Given the description of an element on the screen output the (x, y) to click on. 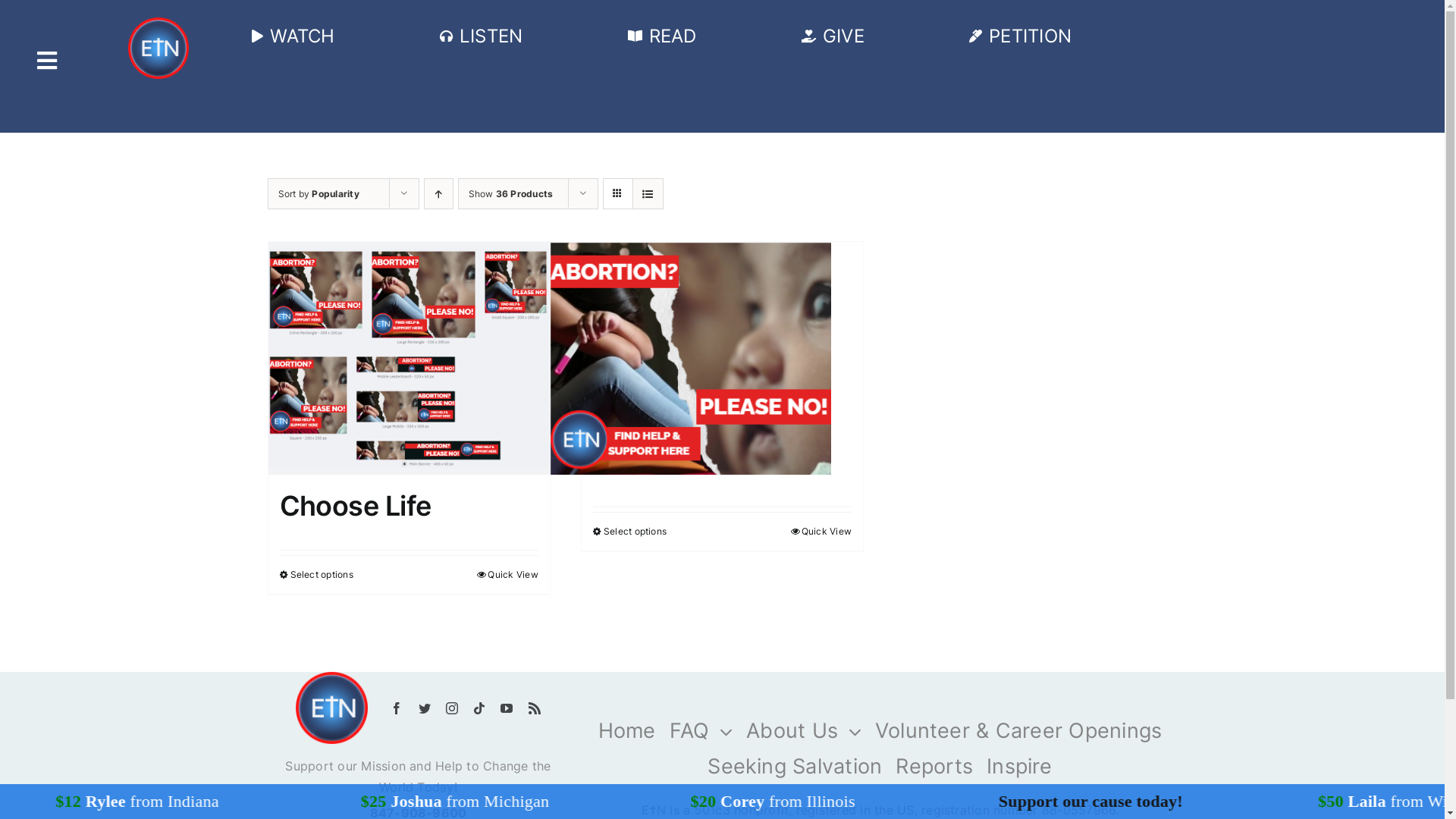
Select options Element type: text (629, 531)
Rss Element type: hover (533, 708)
Choose Life Element type: text (354, 505)
Inspire Element type: text (1019, 766)
Quick View Element type: text (506, 575)
Quick View Element type: text (820, 531)
Instagram Element type: hover (451, 708)
Seeking Salvation Element type: text (794, 766)
GIVE Element type: text (829, 36)
Show 36 Products Element type: text (510, 193)
Reports Element type: text (933, 766)
LISTEN Element type: text (478, 36)
Tiktok Element type: hover (479, 708)
WATCH Element type: text (289, 36)
Sort by Popularity Element type: text (317, 193)
Twitter Element type: hover (424, 708)
Facebook Element type: hover (396, 708)
Home Element type: text (626, 730)
Volunteer & Career Openings Element type: text (1018, 730)
Select options Element type: text (315, 575)
YouTube Element type: hover (506, 708)
The Gift of Life Element type: text (687, 462)
ETN-Logo Element type: hover (331, 707)
About Us Element type: text (803, 730)
PETITION Element type: text (1017, 36)
READ Element type: text (658, 36)
FAQ Element type: text (700, 730)
Support our cause today! Element type: text (1246, 800)
